Given the description of an element on the screen output the (x, y) to click on. 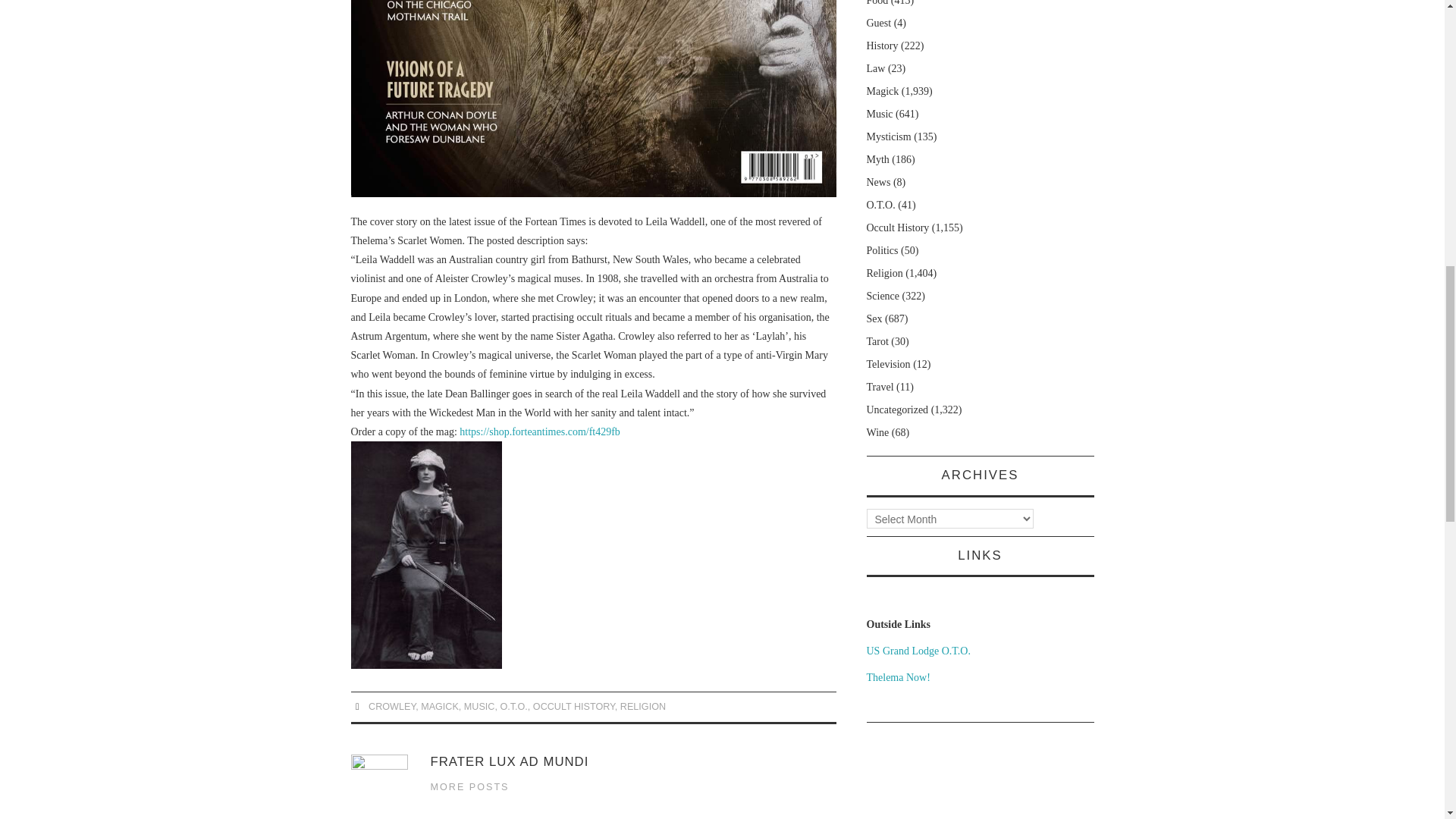
O.T.O. (513, 706)
CROWLEY (391, 706)
MORE POSTS (469, 787)
OCCULT HISTORY (573, 706)
MUSIC (479, 706)
RELIGION (642, 706)
MAGICK (439, 706)
